Given the description of an element on the screen output the (x, y) to click on. 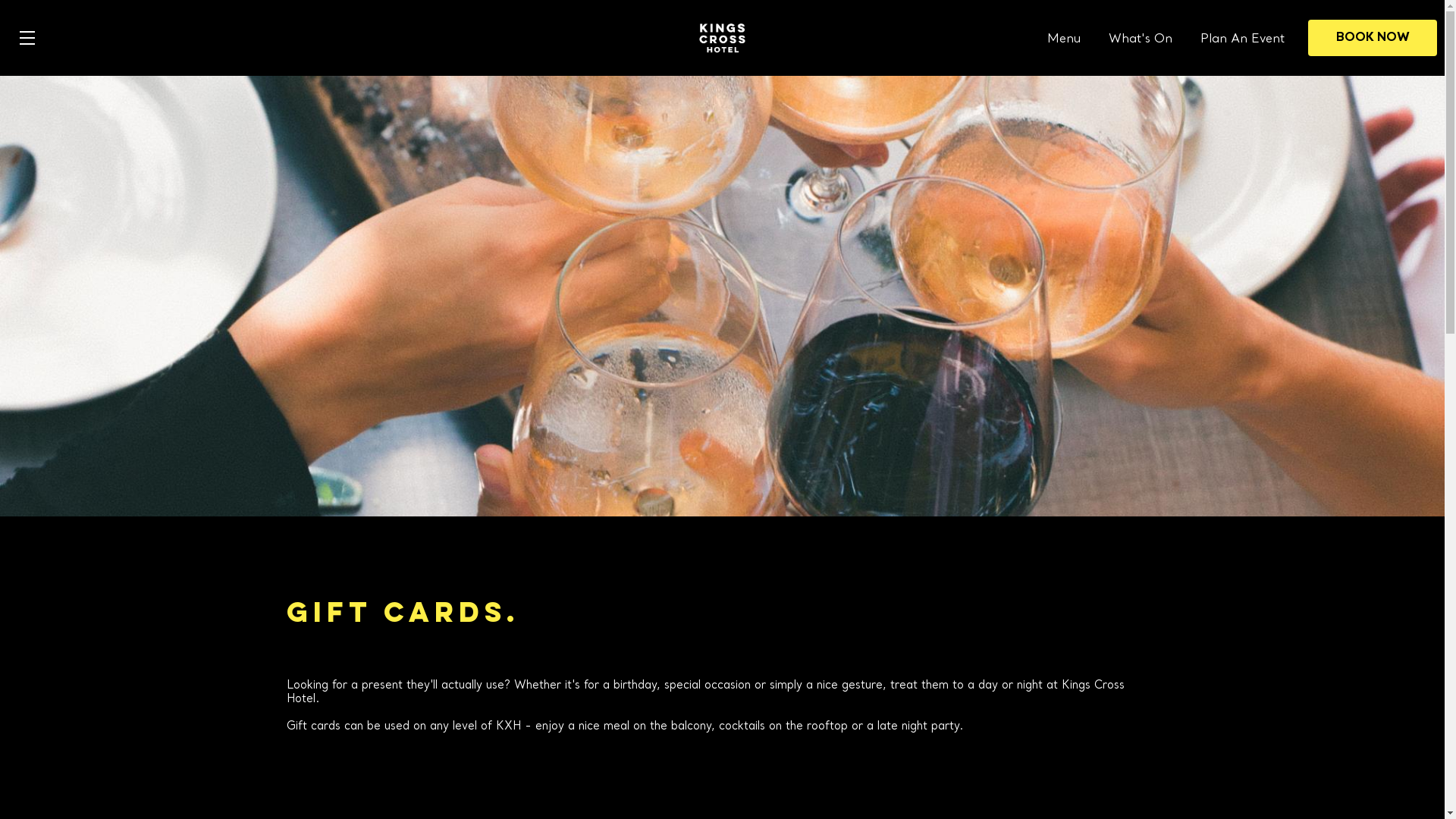
What'S On Element type: text (1140, 39)
BOOK NOW Element type: text (1372, 37)
Menu Element type: text (1063, 39)
Plan An Event Element type: text (1242, 39)
